Given the description of an element on the screen output the (x, y) to click on. 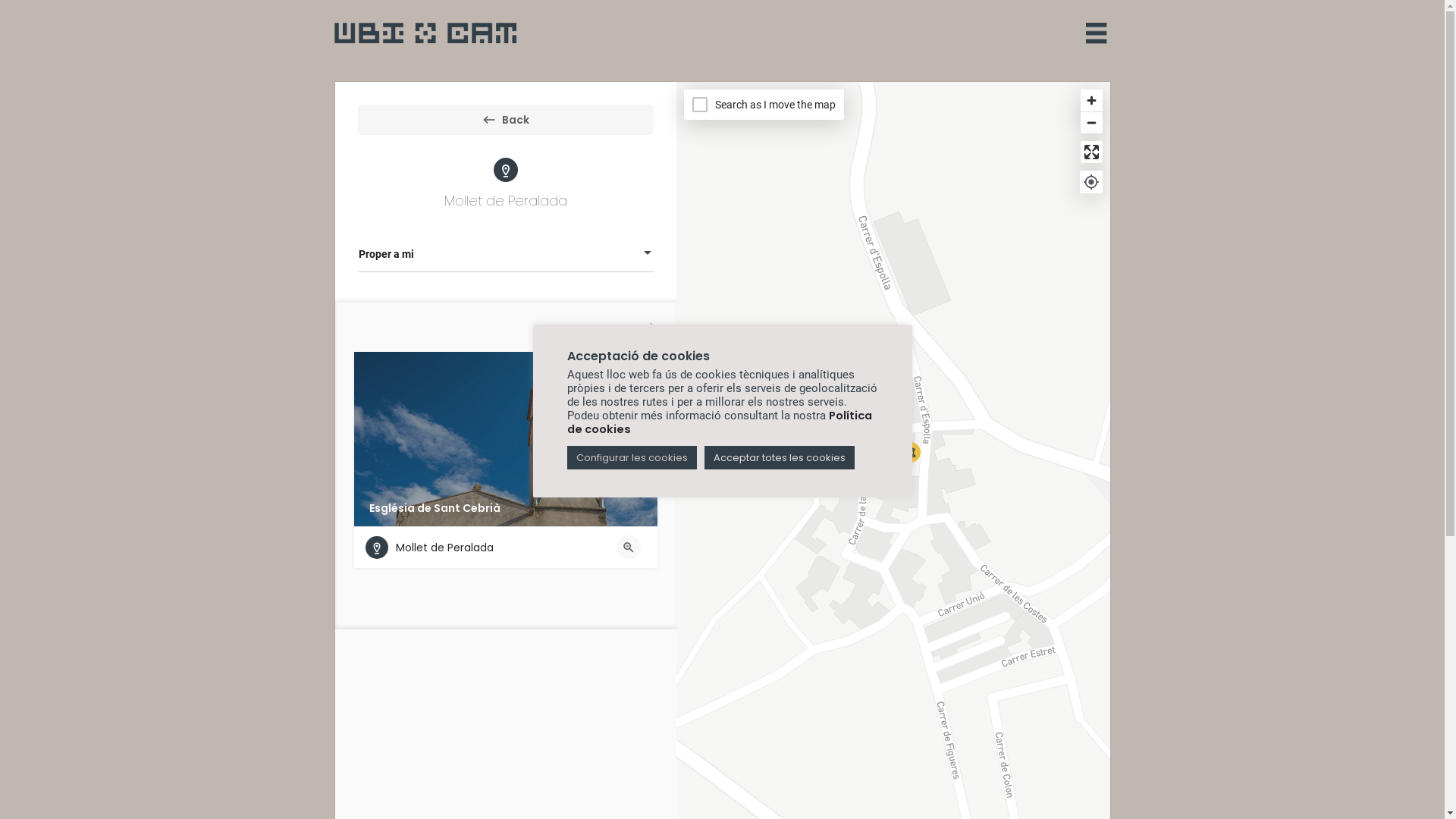
Configurar les cookies Element type: text (631, 457)
Back Element type: text (505, 119)
Enter fullscreen Element type: hover (1090, 152)
Zoom out Element type: hover (1090, 122)
logo ubicat-senselinia-01-01 Element type: hover (424, 32)
Mollet de Peralada Element type: text (429, 547)
Acceptar totes les cookies Element type: text (778, 457)
Zoom in Element type: hover (1090, 100)
